Given the description of an element on the screen output the (x, y) to click on. 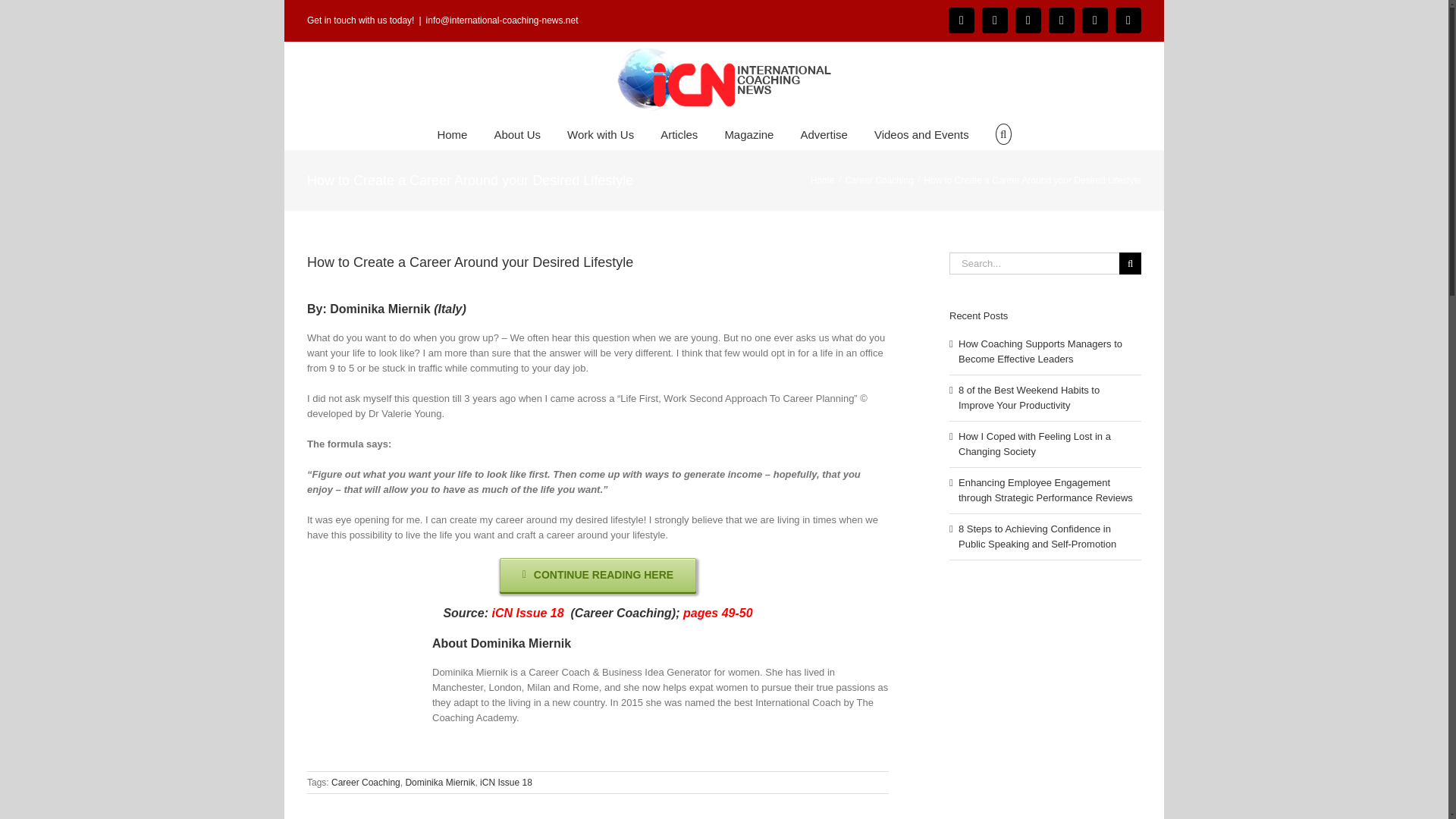
Email (1128, 20)
Twitter (1094, 20)
Facebook (961, 20)
Videos and Events (922, 133)
Advertise (823, 133)
Home (451, 133)
LinkedIn (994, 20)
Work with Us (600, 133)
Pinterest (1027, 20)
Email (1128, 20)
